Given the description of an element on the screen output the (x, y) to click on. 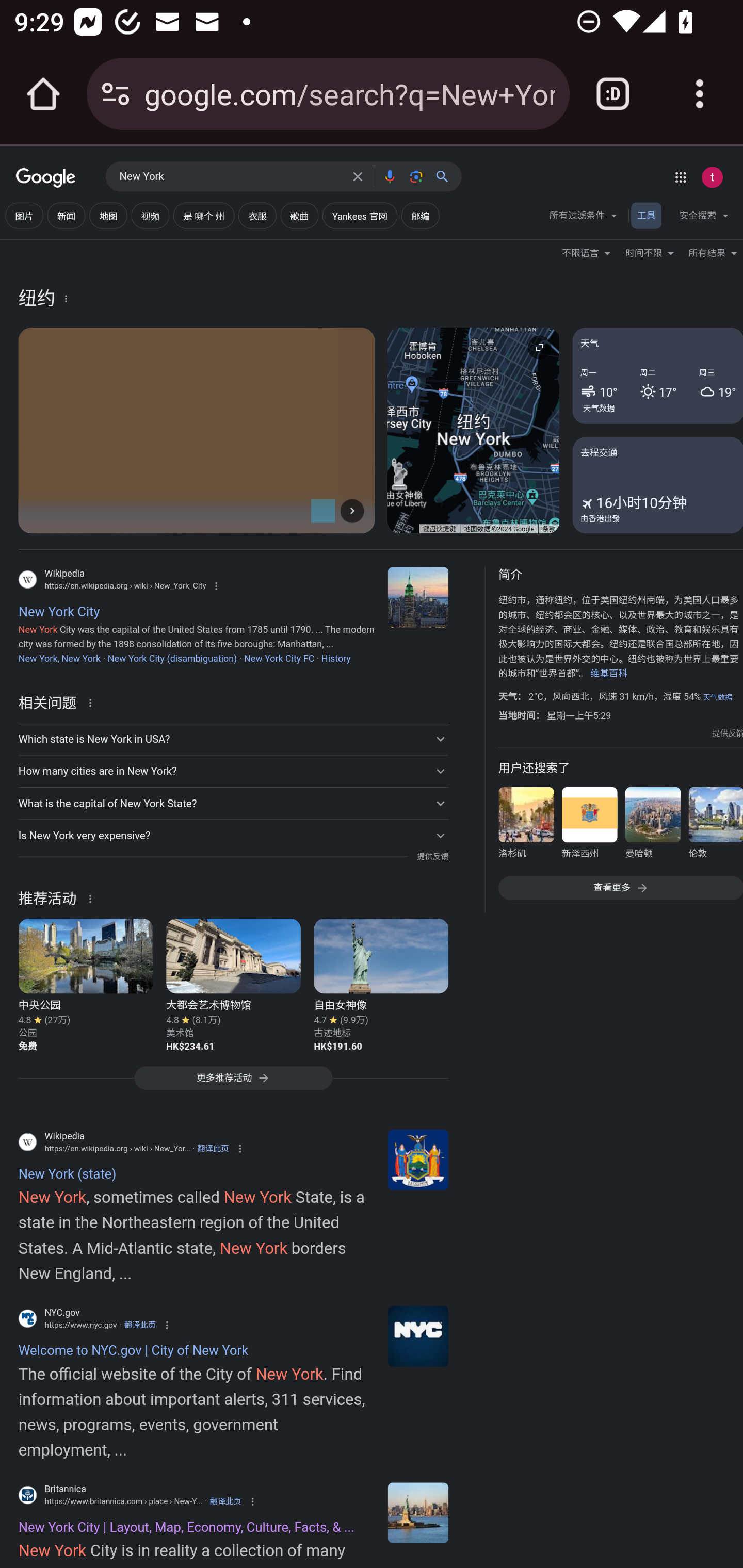
Open the home page (43, 93)
Connection is secure (115, 93)
Switch or close tabs (612, 93)
Customize and control Google Chrome (699, 93)
清除 (357, 176)
按语音搜索 (389, 176)
按图搜索 (415, 176)
搜索 (446, 176)
Google 应用 (680, 176)
Google 账号： test appium (testappium002@gmail.com) (712, 176)
Google (45, 178)
New York (229, 177)
图片 (24, 215)
新闻 (65, 215)
地图 (107, 215)
视频 (149, 215)
添加“是 哪个 州” 是 哪个 州 (203, 215)
添加“衣服” 衣服 (256, 215)
添加“歌曲” 歌曲 (299, 215)
添加“Yankees 官网” Yankees 官网 (359, 215)
添加“邮编” 邮编 (420, 215)
所有过滤条件 (583, 217)
工具 (646, 215)
安全搜索 (703, 217)
更多选项 (65, 298)
天气 周一 高温 10 度 周二 高温 17 度 周三 高温 19 度 (657, 375)
展开地图 (539, 346)
天气数据 (599, 407)
去程交通 16小时10分钟 乘坐飞机 由香港出發 (657, 484)
下一张图片 (352, 510)
New_York_City (417, 597)
New York, New York (58, 658)
New York City (disambiguation) (171, 658)
New York City FC (278, 658)
History (335, 658)
维基百科 (608, 672)
天气数据 (717, 697)
关于这条结果的详细信息 (93, 701)
Which state is New York in USA? (232, 738)
提供反馈 (727, 733)
How many cities are in New York? (232, 770)
洛杉矶 (526, 826)
新泽西州 (588, 826)
曼哈顿 (652, 826)
伦敦 (715, 826)
What is the capital of New York State? (232, 803)
Is New York very expensive? (232, 835)
提供反馈 (432, 856)
查看更多 查看更多 查看更多 (620, 887)
关于这条结果的详细信息 (93, 897)
更多推荐活动 (232, 1082)
New_York_(state) (417, 1159)
翻译此页 (212, 1148)
www.nyc (417, 1336)
翻译此页 (140, 1324)
New-York-City (417, 1511)
翻译此页 (225, 1501)
